Given the description of an element on the screen output the (x, y) to click on. 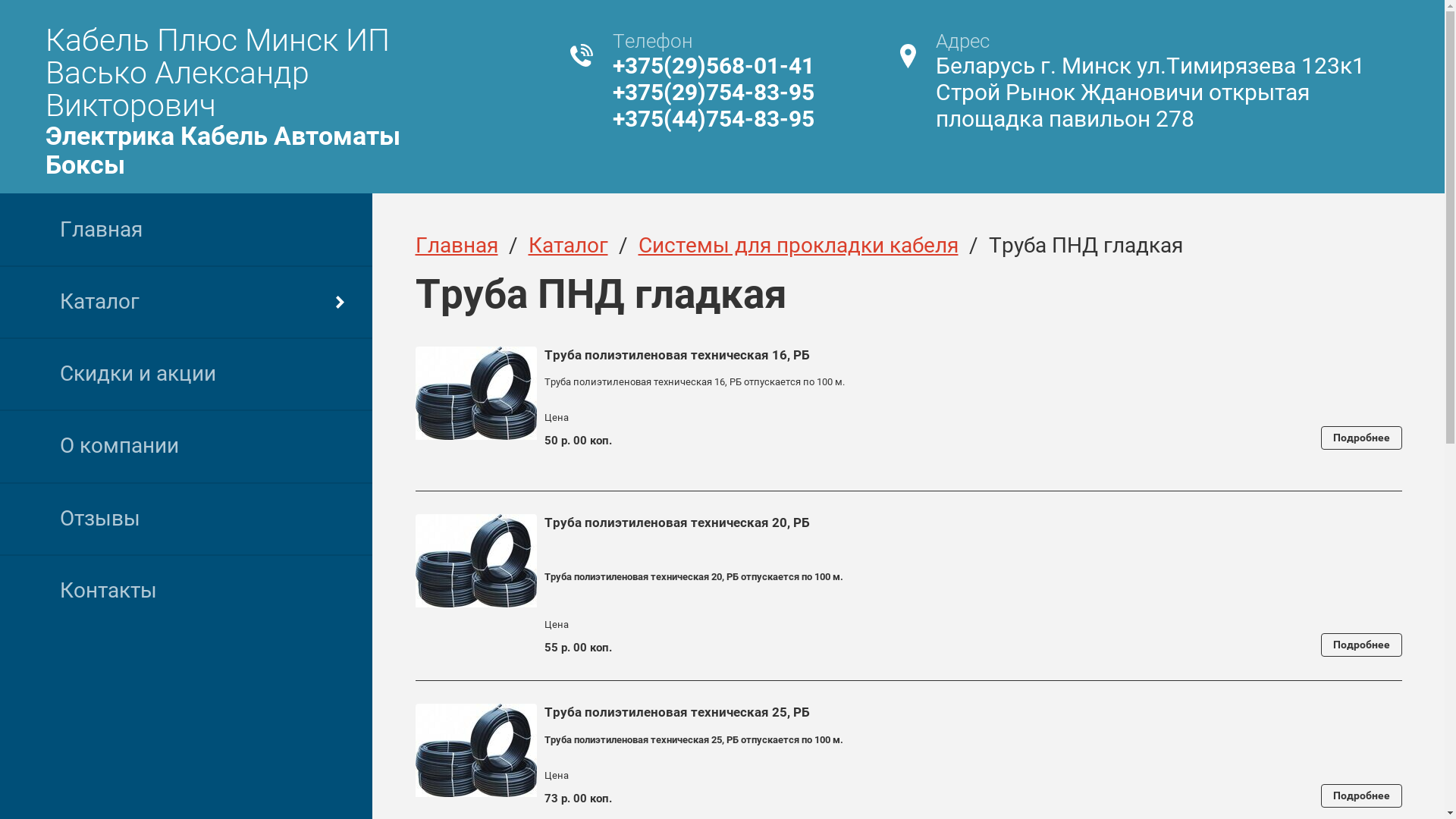
+375(29)754-83-95 Element type: text (713, 91)
+375(29)568-01-41 Element type: text (713, 65)
+375(44)754-83-95 Element type: text (713, 118)
